Given the description of an element on the screen output the (x, y) to click on. 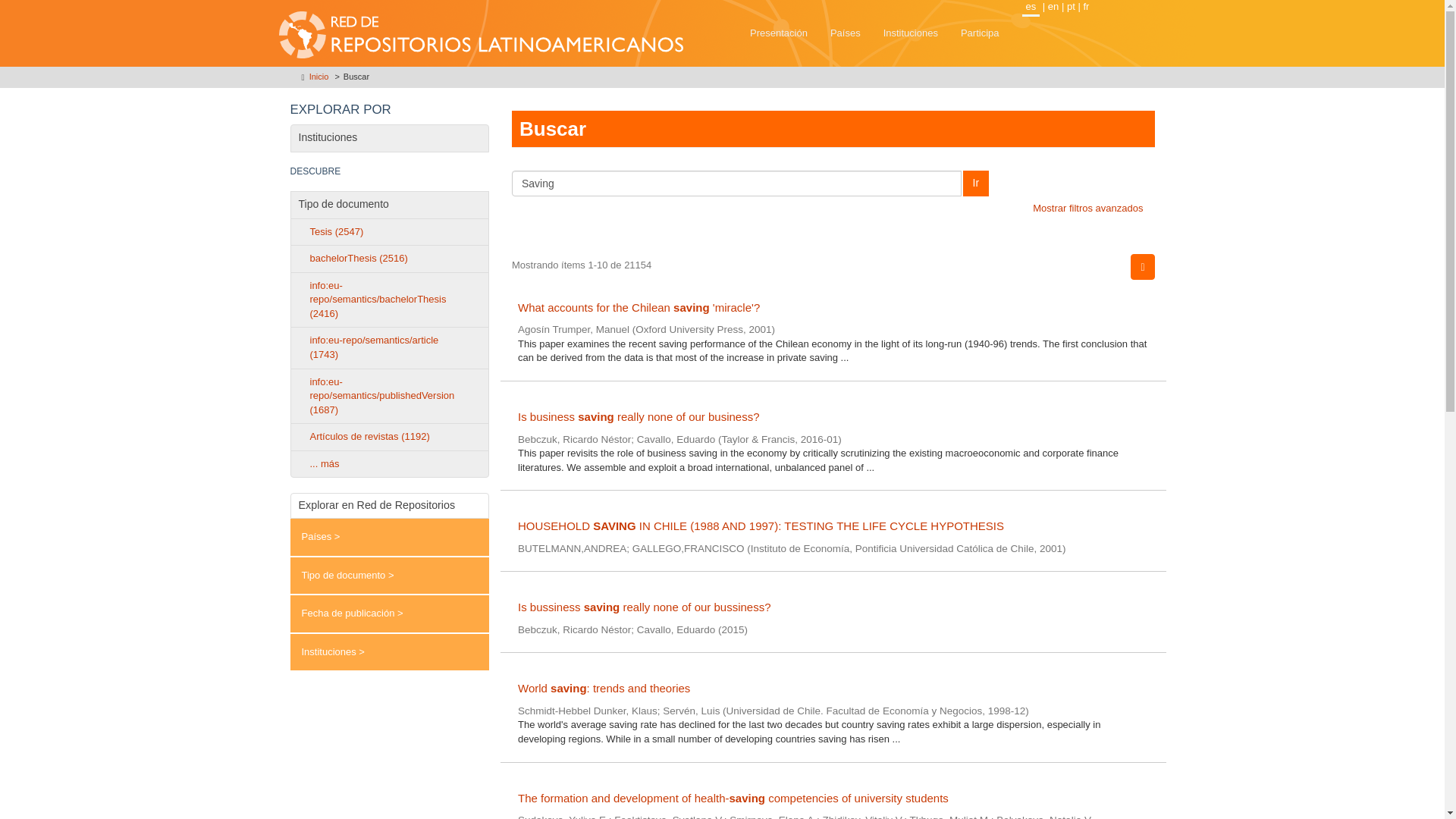
en (1053, 6)
What accounts for the Chilean saving 'miracle'?  (833, 308)
Ir (976, 183)
English (1053, 6)
pt (1071, 6)
Inicio (318, 76)
fr (1086, 6)
Participa (979, 33)
Instituciones (910, 33)
Is business saving really none of our business?  (833, 417)
Is bussiness saving really none of our bussiness?  (833, 607)
Mostrar filtros avanzados (1087, 207)
es (1031, 8)
Saving (736, 183)
